Given the description of an element on the screen output the (x, y) to click on. 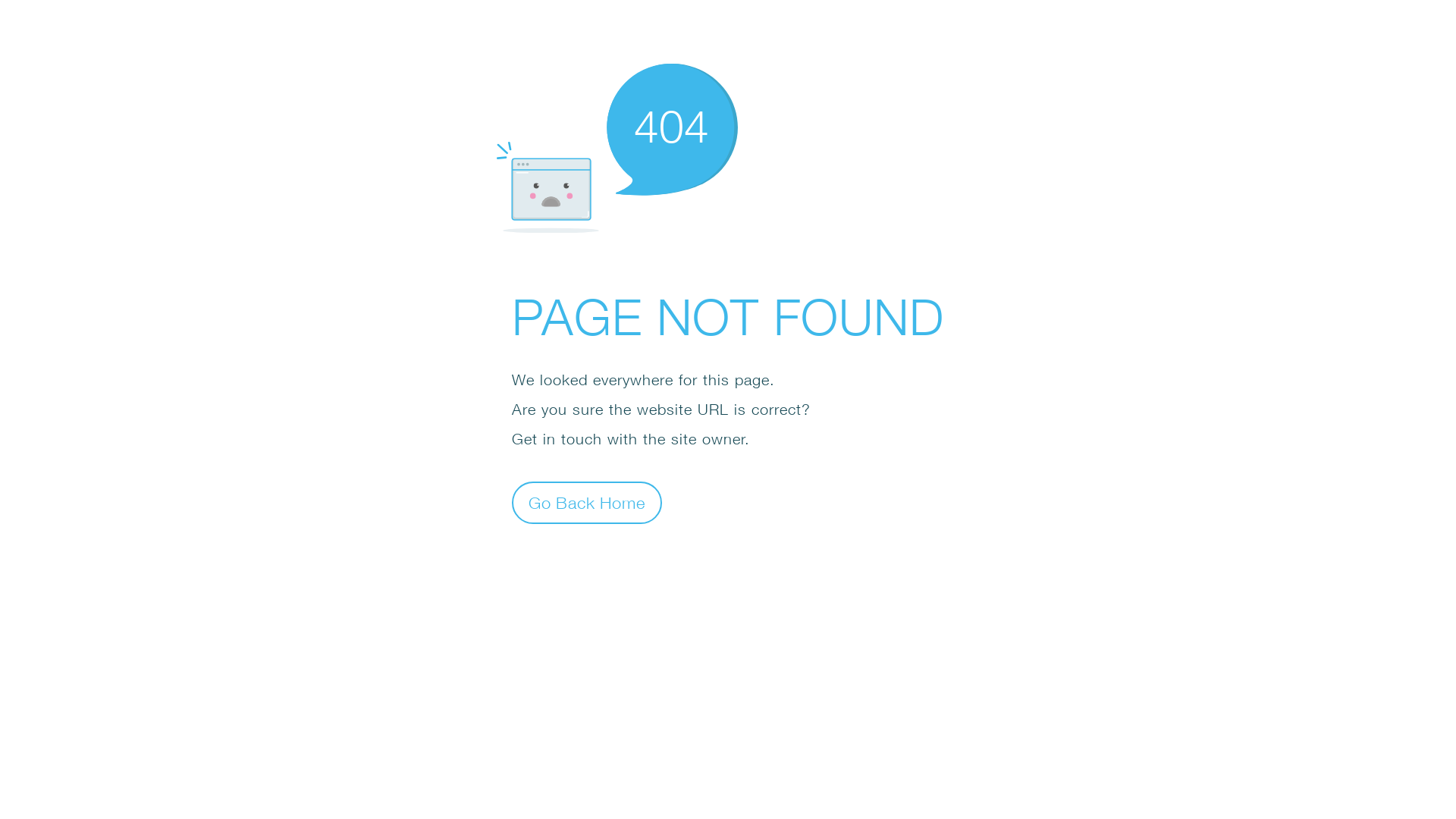
Go Back Home Element type: text (586, 502)
